Given the description of an element on the screen output the (x, y) to click on. 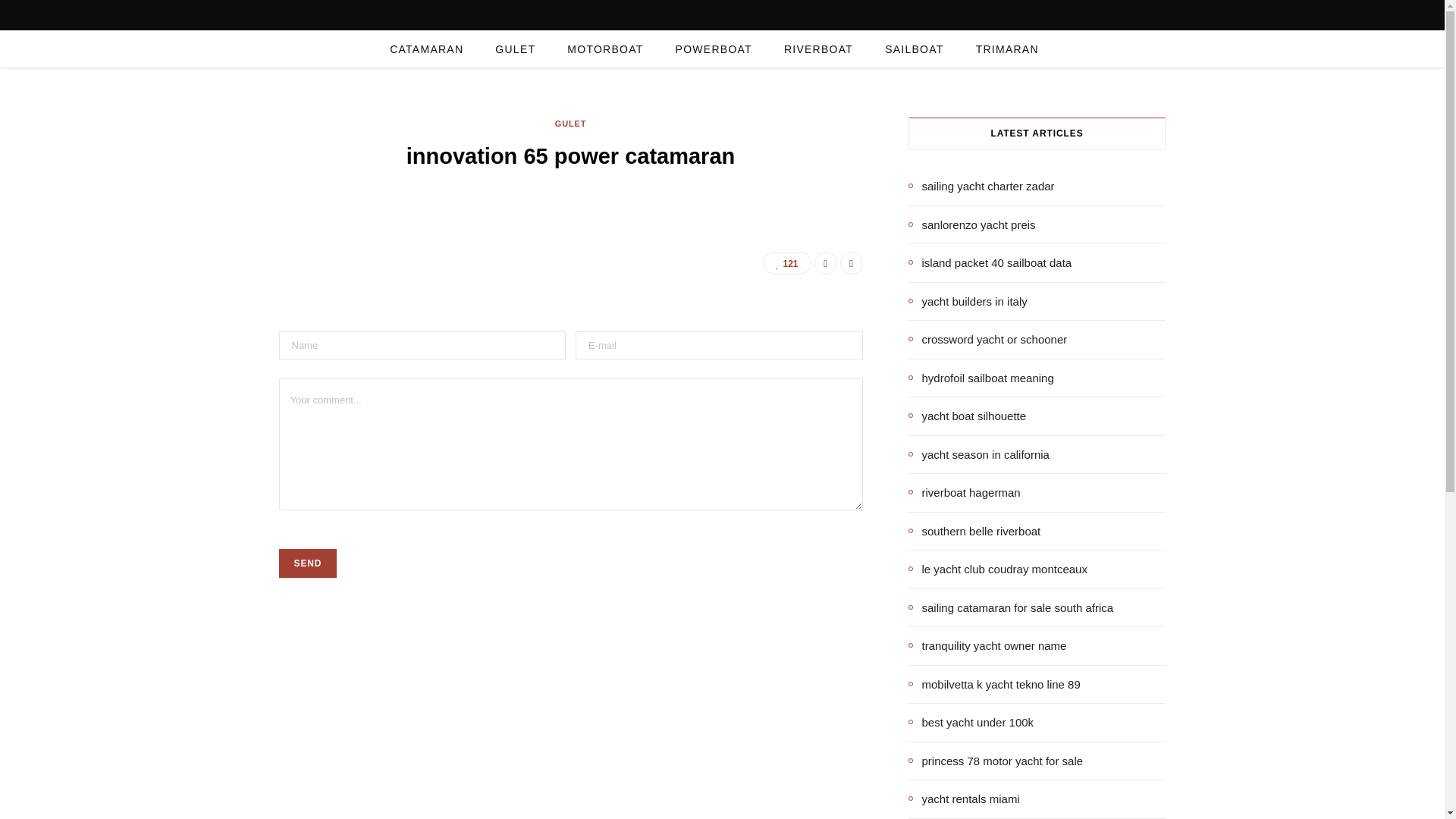
mobilvetta k yacht tekno line 89 (994, 684)
CATAMARAN (426, 48)
southern belle riverboat (974, 531)
RIVERBOAT (818, 48)
best yacht under 100k (970, 722)
Send (308, 563)
GULET (570, 123)
yacht season in california (978, 454)
sailing yacht charter zadar (981, 186)
MOTORBOAT (605, 48)
yacht rentals miami (964, 799)
121 (786, 262)
princess 78 motor yacht for sale (995, 760)
TRIMARAN (1006, 48)
POWERBOAT (713, 48)
